Given the description of an element on the screen output the (x, y) to click on. 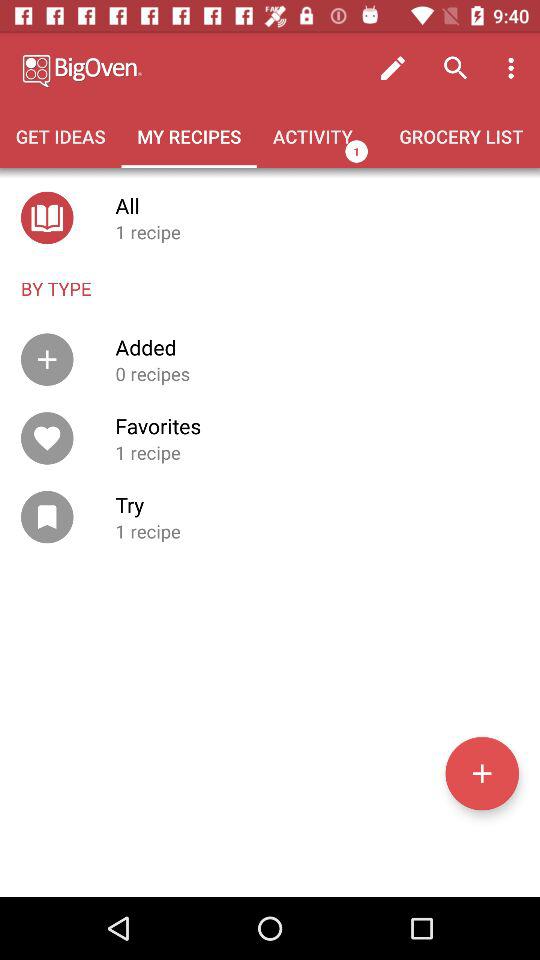
add a recipe (482, 773)
